Given the description of an element on the screen output the (x, y) to click on. 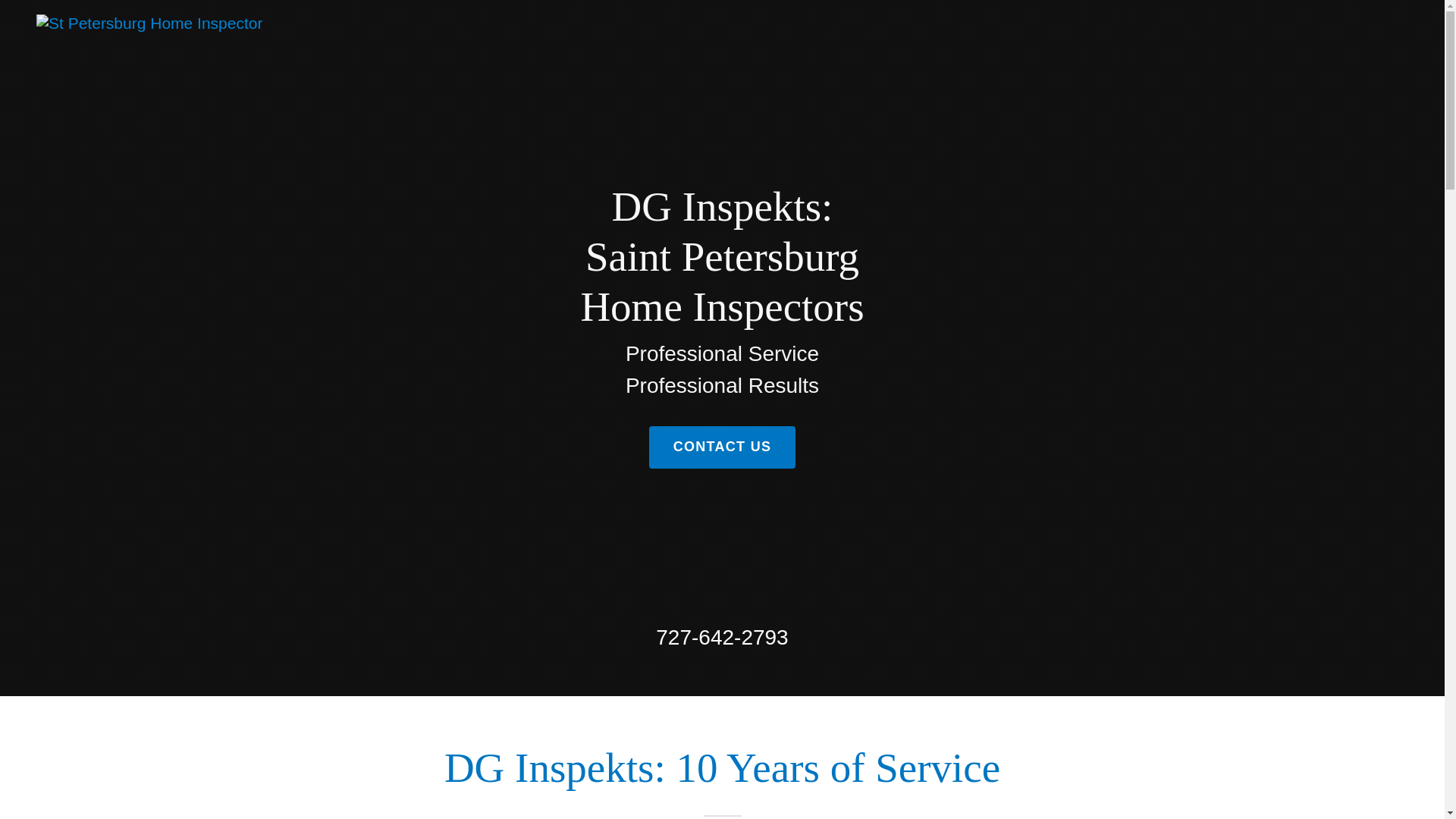
St Petersburg Home Inspector (149, 22)
